Given the description of an element on the screen output the (x, y) to click on. 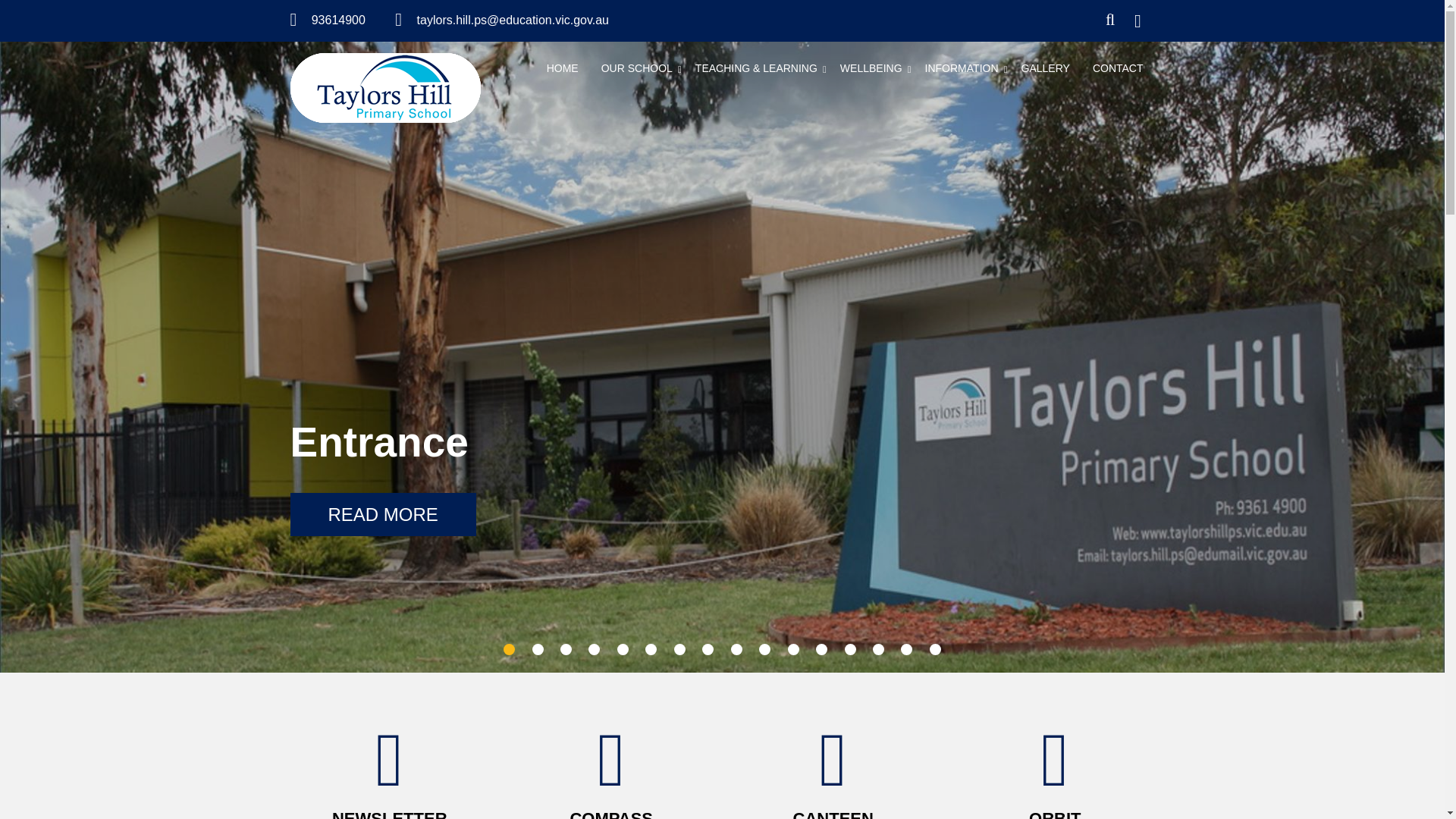
93614900 (338, 19)
INFORMATION (962, 70)
OUR SCHOOL (636, 70)
WELLBEING (871, 70)
HOME (562, 70)
